Given the description of an element on the screen output the (x, y) to click on. 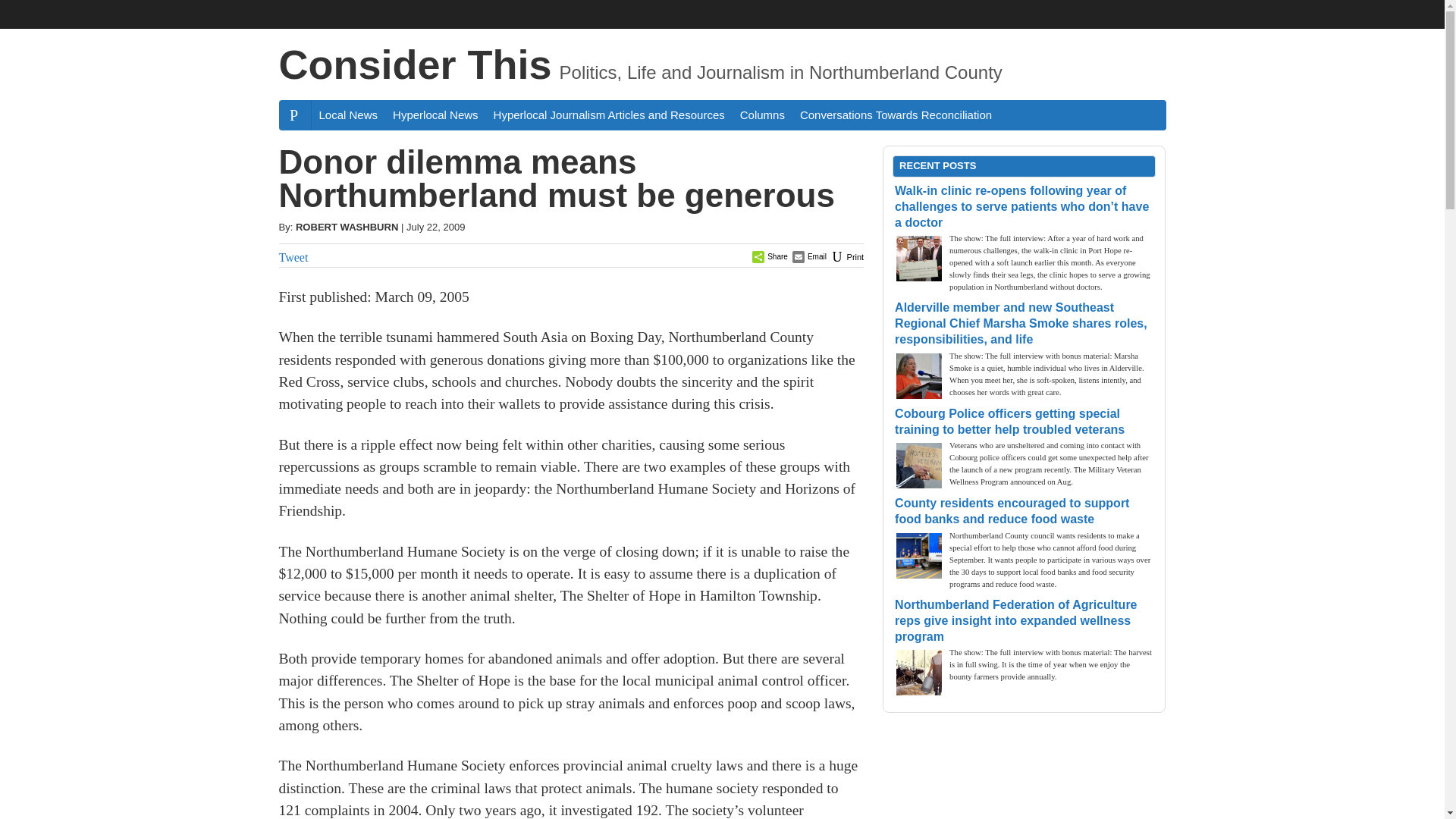
Columns (762, 114)
Hyperlocal Journalism Articles and Resources (609, 114)
ROBERT WASHBURN (346, 226)
Conversations Towards Reconciliation (895, 114)
print this article (845, 256)
Print (845, 256)
Tweet (293, 256)
More from Robert Washburn (346, 226)
Local News (348, 114)
